Given the description of an element on the screen output the (x, y) to click on. 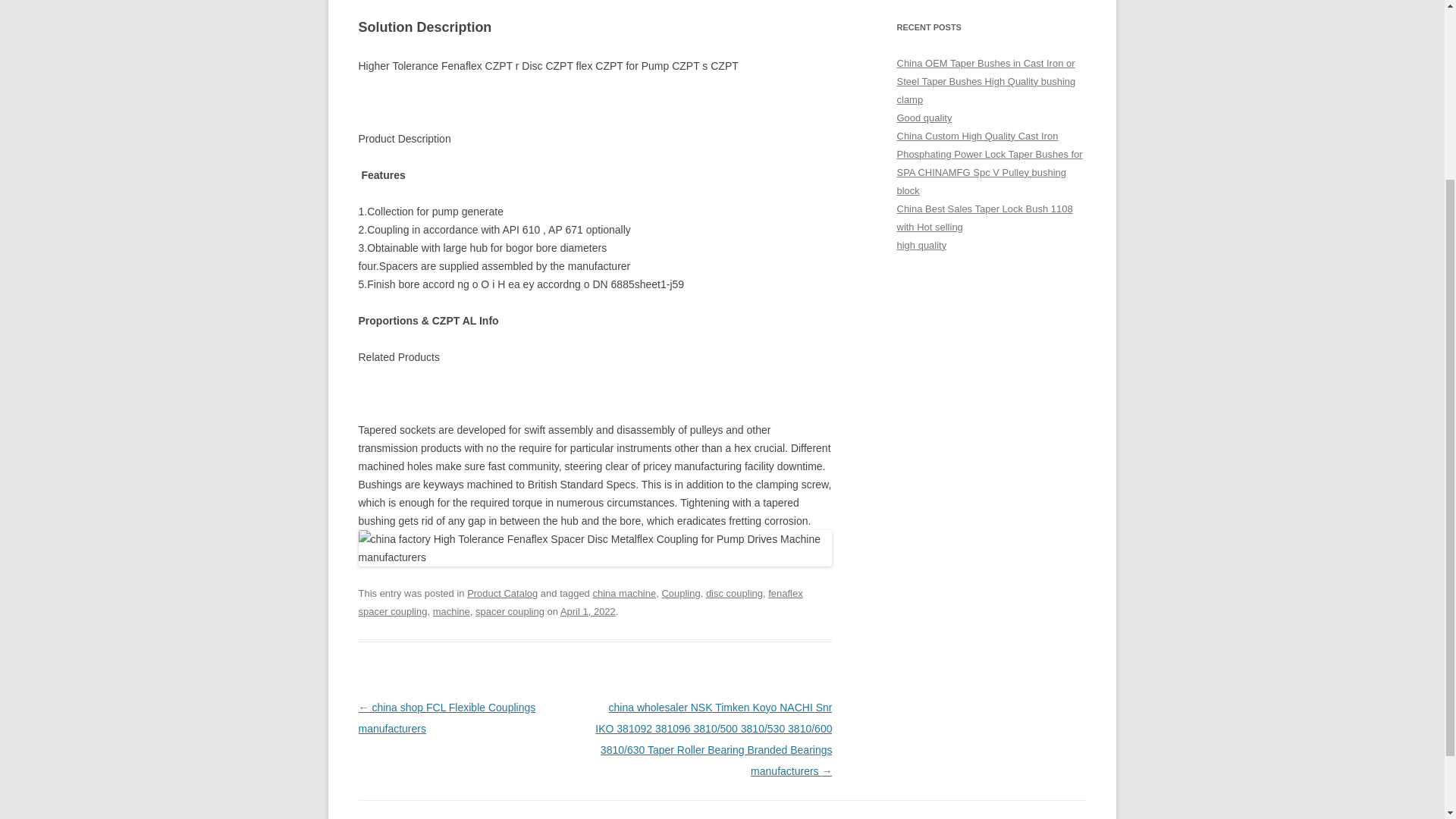
fenaflex spacer coupling (580, 602)
machine (451, 611)
China Best Sales Taper Lock Bush 1108 with Hot selling (983, 217)
china machine (624, 593)
high quality (921, 244)
Product Catalog (502, 593)
Coupling (680, 593)
disc coupling (734, 593)
